Given the description of an element on the screen output the (x, y) to click on. 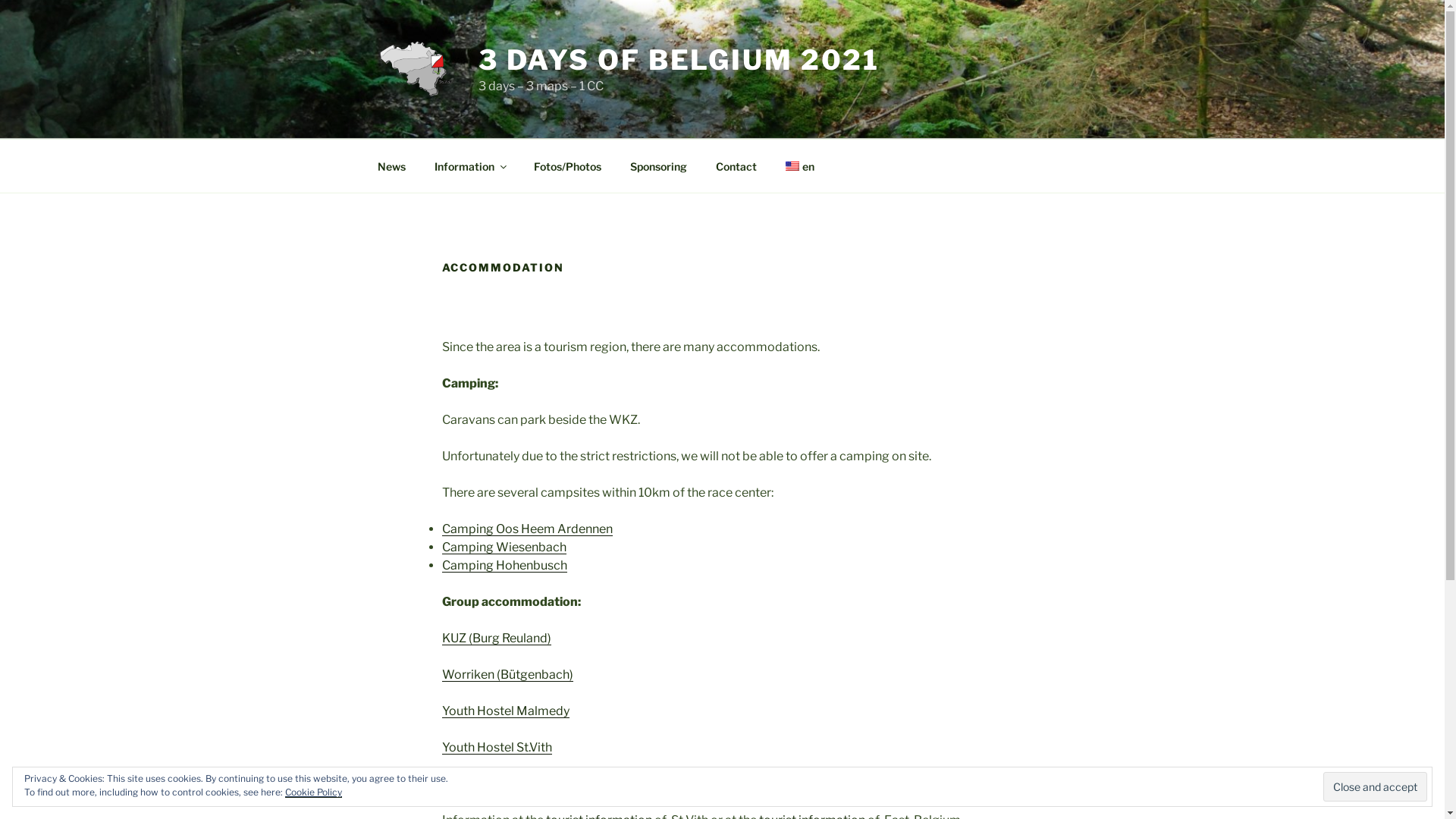
News Element type: text (391, 165)
Fotos/Photos Element type: text (567, 165)
KUZ (Burg Reuland) Element type: text (495, 637)
Close and accept Element type: text (1375, 786)
Youth Hostel St.Vith Element type: text (496, 747)
Youth Hostel Malmedy Element type: text (504, 710)
3 DAYS OF BELGIUM 2021 Element type: text (678, 59)
Information Element type: text (469, 165)
Camping Oos Heem Ardennen Element type: text (526, 528)
Contact Element type: text (735, 165)
Camping Hohenbusch Element type: text (503, 565)
Sponsoring Element type: text (658, 165)
Cookie Policy Element type: text (313, 791)
en Element type: text (799, 165)
Camping Wiesenbach Element type: text (503, 546)
